Given the description of an element on the screen output the (x, y) to click on. 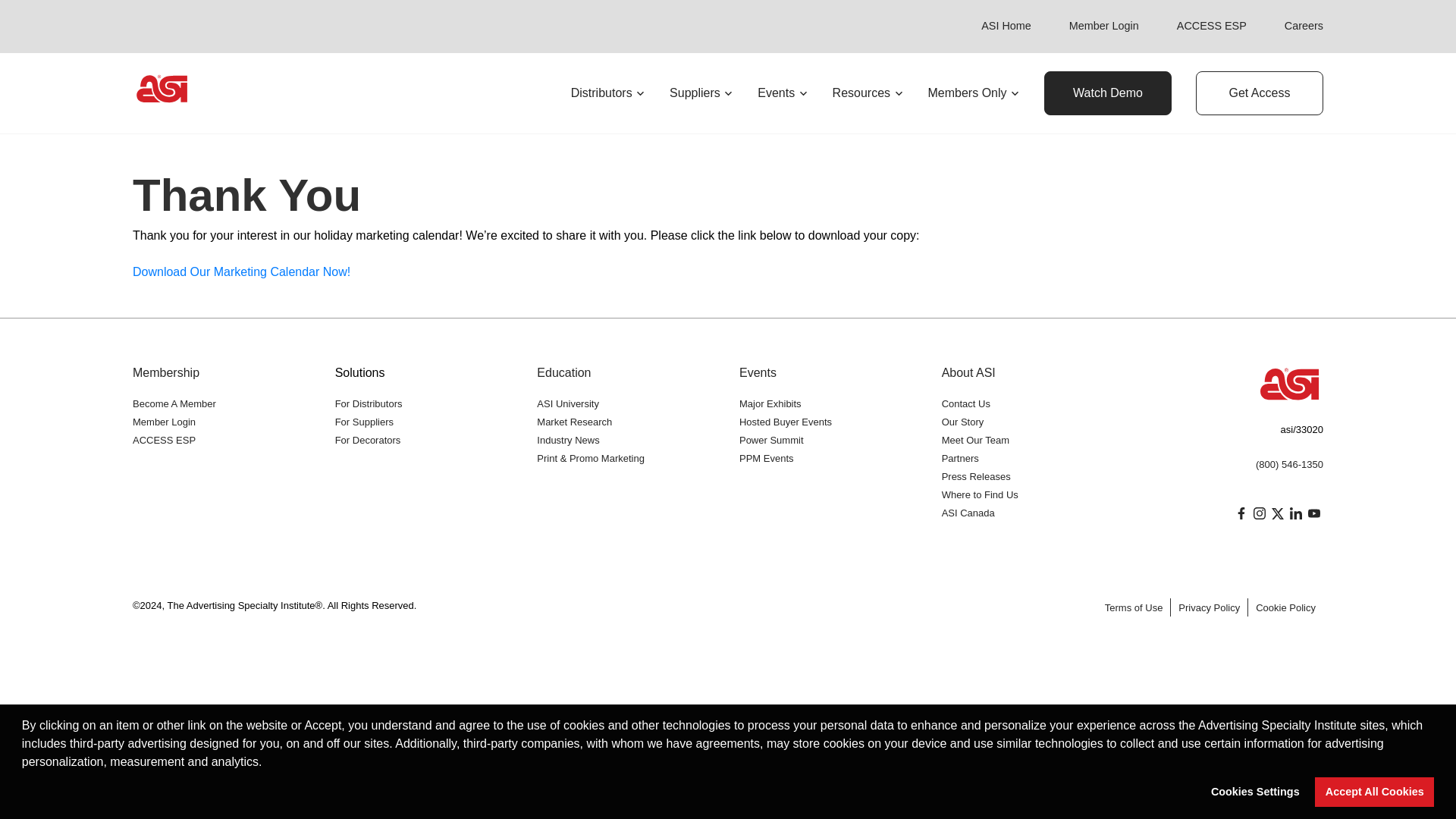
Get Access (1259, 93)
Membership (165, 372)
Careers (1303, 26)
Watch Demo (1107, 93)
Distributors (607, 92)
Suppliers (701, 92)
Member Login (1103, 26)
Become A Member (173, 403)
Members Only (974, 92)
Events (782, 92)
